Given the description of an element on the screen output the (x, y) to click on. 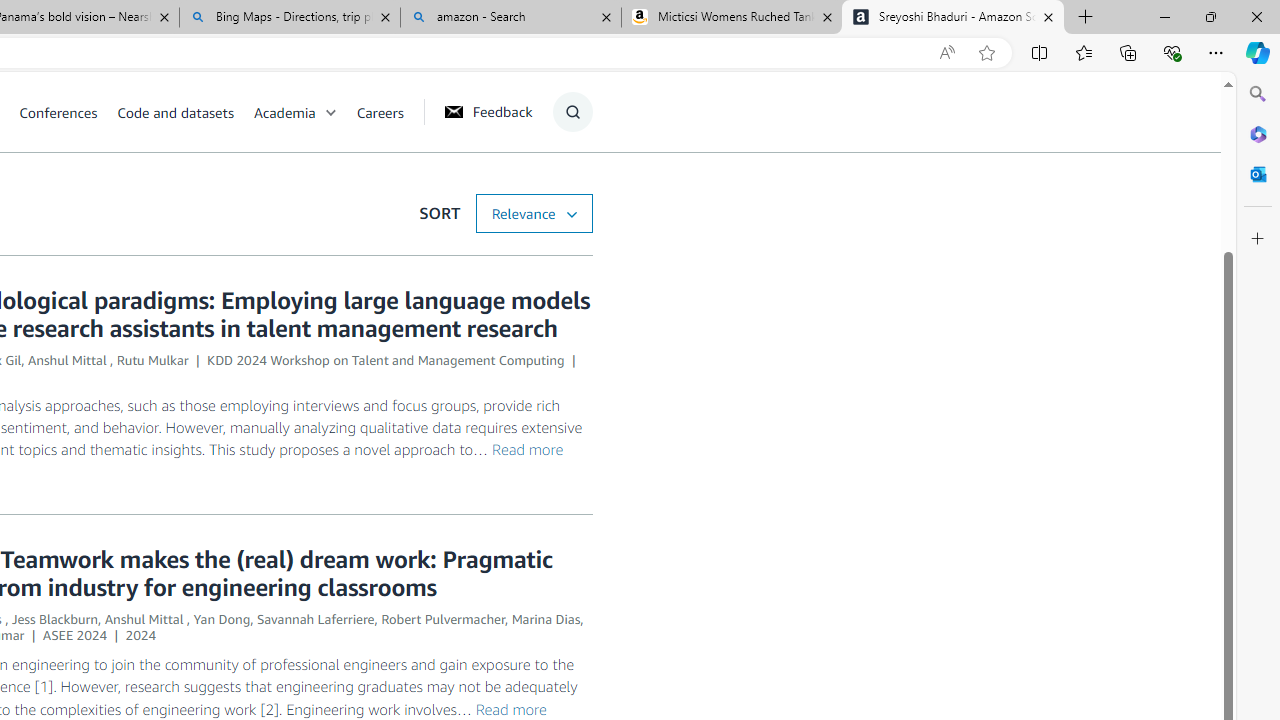
Read more (510, 708)
Conferences (58, 111)
Rutu Mulkar (152, 360)
Academia (305, 111)
Marina Dias (545, 619)
Class: icon-magnify (571, 111)
Show Search Form (571, 111)
